Given the description of an element on the screen output the (x, y) to click on. 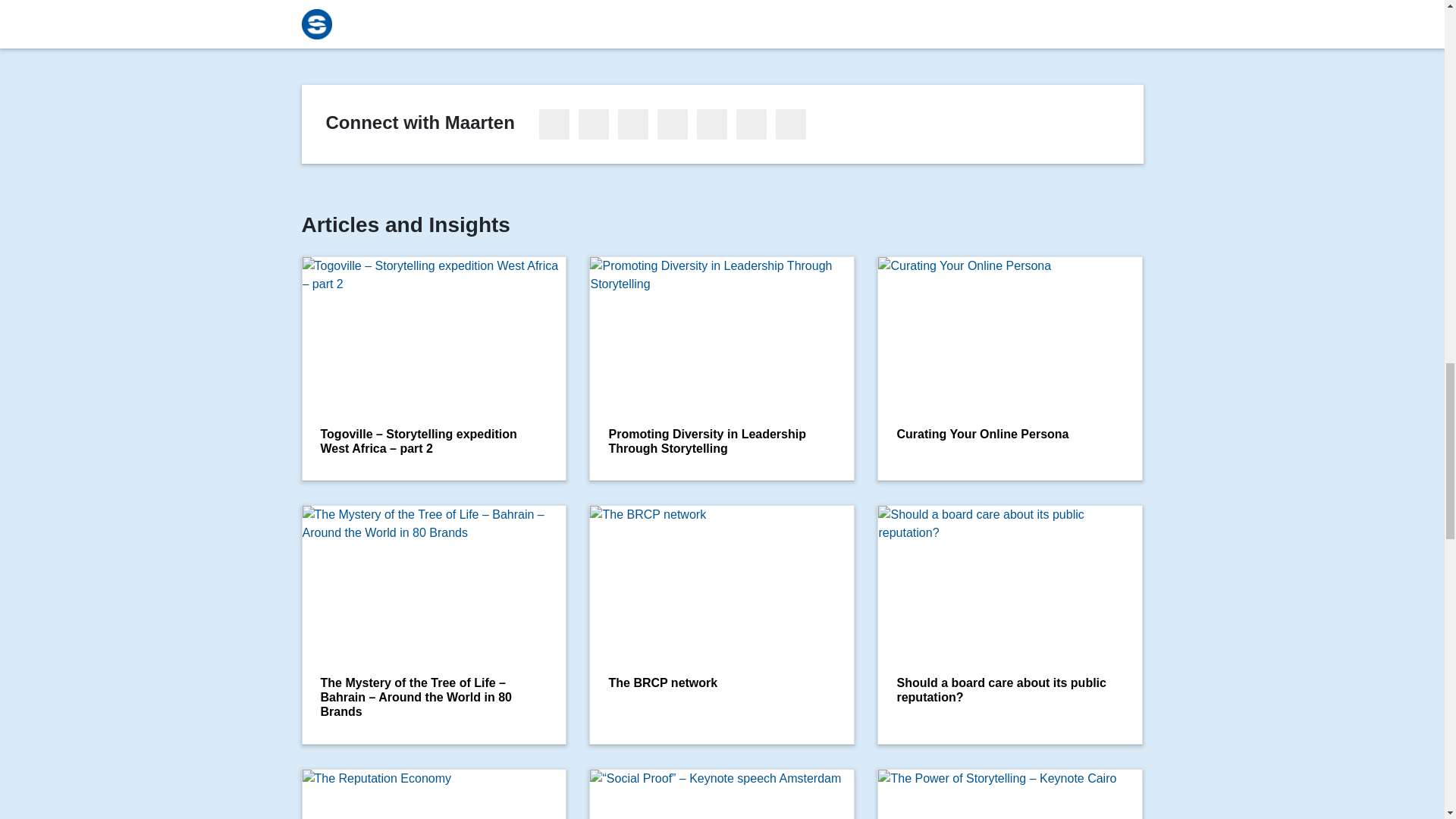
Promoting Diversity in Leadership Through Storytelling (721, 368)
Curating Your Online Persona (1009, 368)
Should a board care about its public reputation? (1009, 624)
The BRCP network (721, 624)
The Reputation Economy (434, 794)
